Given the description of an element on the screen output the (x, y) to click on. 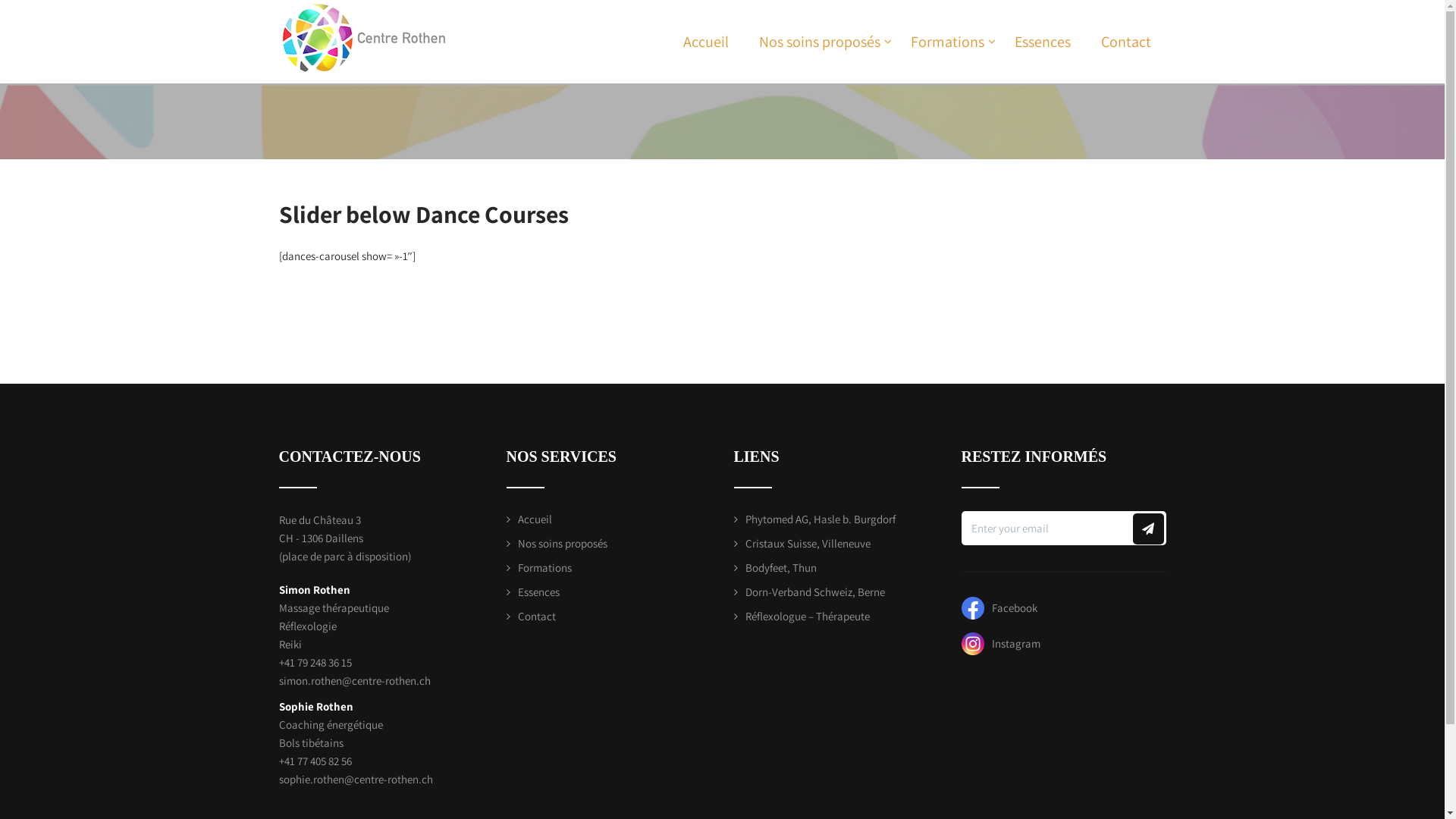
Bodyfeet, Thun Element type: text (775, 567)
Centre Rothen Element type: hover (377, 7)
Formations Element type: text (946, 41)
Accueil Element type: text (705, 41)
Essences Element type: text (532, 591)
Accueil Element type: text (529, 518)
Contact Element type: text (530, 615)
Essences Element type: text (1042, 41)
Formations Element type: text (538, 567)
Phytomed AG, Hasle b. Burgdorf Element type: text (814, 518)
simon.rothen@centre-rothen.ch Element type: text (354, 680)
Instagram Element type: text (1000, 643)
Cristaux Suisse, Villeneuve Element type: text (802, 543)
Dorn-Verband Schweiz, Berne Element type: text (809, 591)
Contact Element type: text (1125, 41)
Facebook Element type: text (999, 607)
sophie.rothen@centre-rothen.ch Element type: text (356, 778)
